Given the description of an element on the screen output the (x, y) to click on. 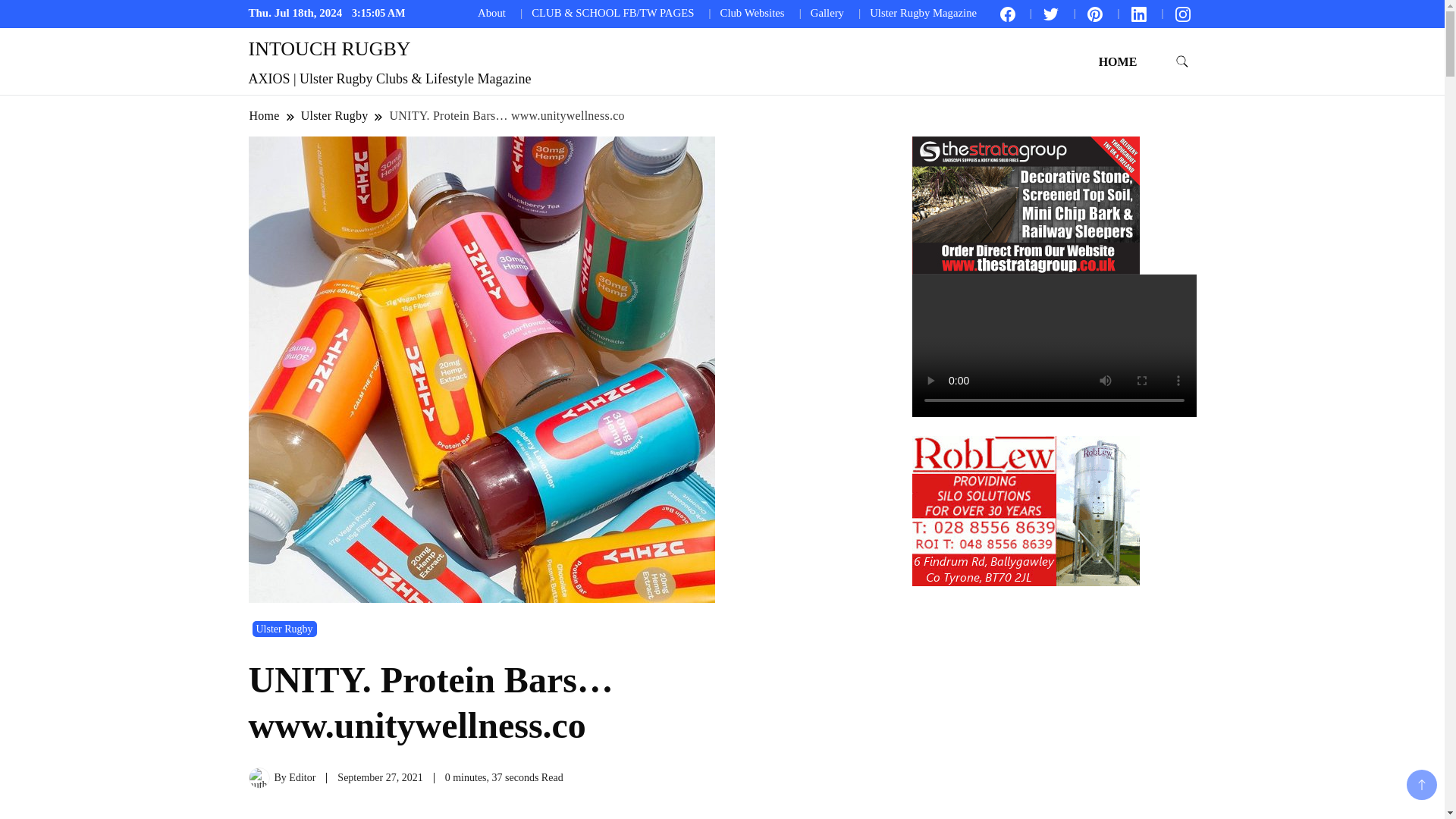
Gallery (827, 12)
Editor (301, 777)
About (491, 12)
Club Websites (752, 12)
HOME (1118, 61)
Ulster Rugby (334, 115)
Ulster Rugby Magazine (922, 12)
INTOUCH RUGBY (329, 48)
Home (264, 115)
Ulster Rugby (283, 628)
September 27, 2021 (379, 777)
Advertisement (557, 811)
Advertisement (1024, 702)
